Given the description of an element on the screen output the (x, y) to click on. 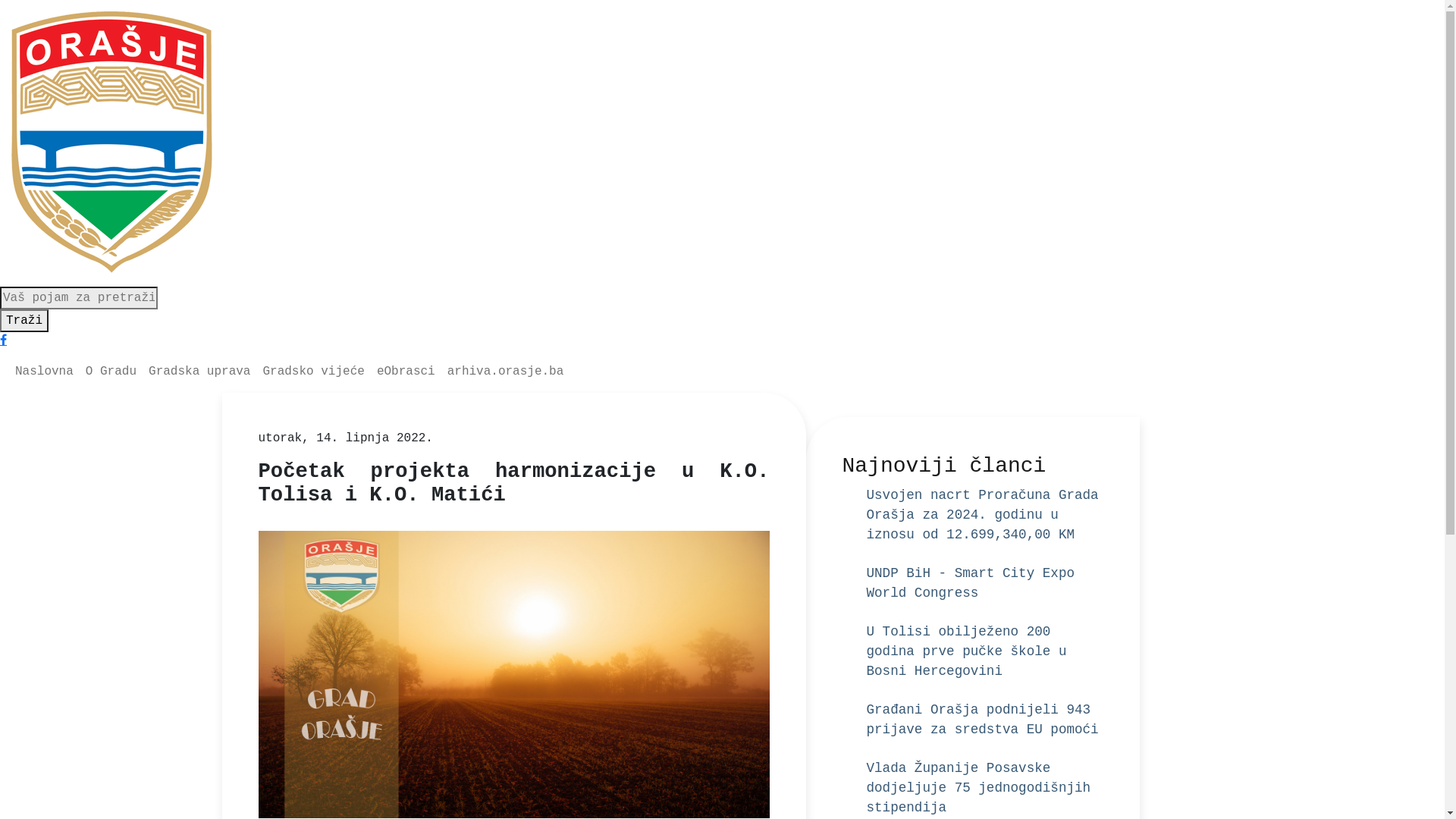
Gradska uprava Element type: text (199, 371)
Naslovna Element type: text (44, 371)
UNDP BiH - Smart City Expo World Congress Element type: text (970, 582)
O Gradu Element type: text (110, 371)
arhiva.orasje.ba Element type: text (505, 371)
eObrasci Element type: text (405, 371)
